Given the description of an element on the screen output the (x, y) to click on. 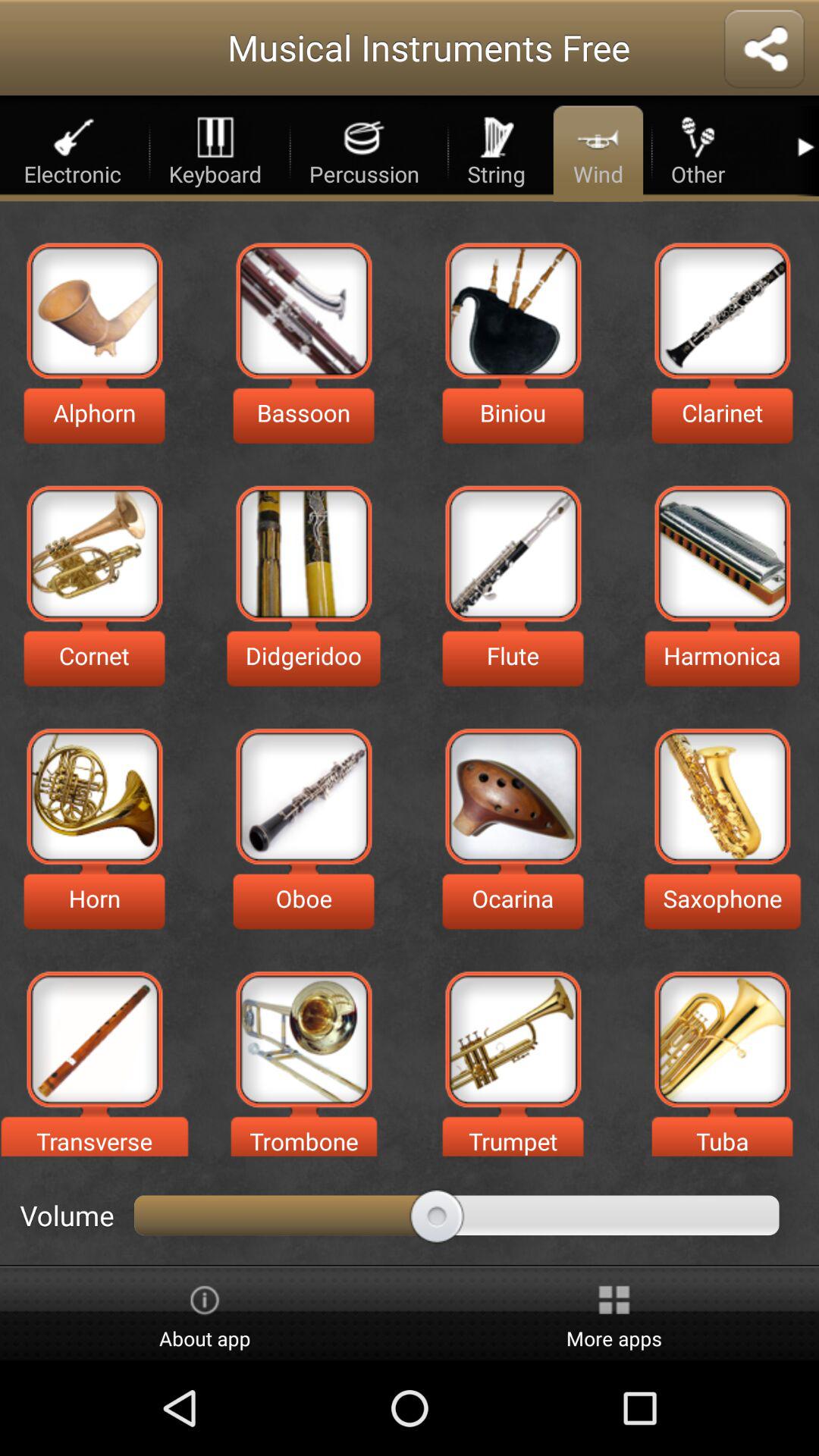
click flute (513, 553)
